Given the description of an element on the screen output the (x, y) to click on. 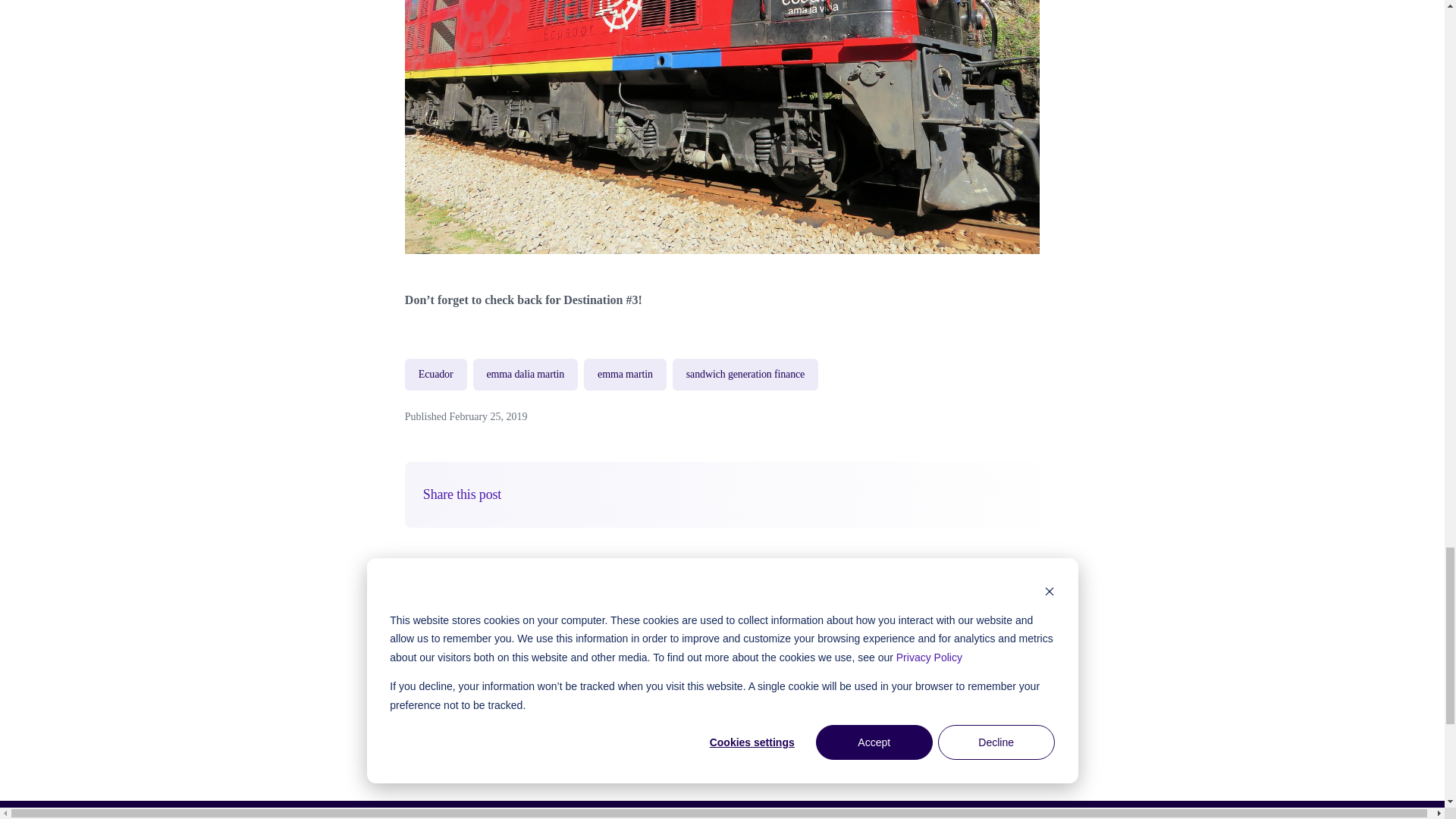
Emma Dalia Martin (565, 633)
